Given the description of an element on the screen output the (x, y) to click on. 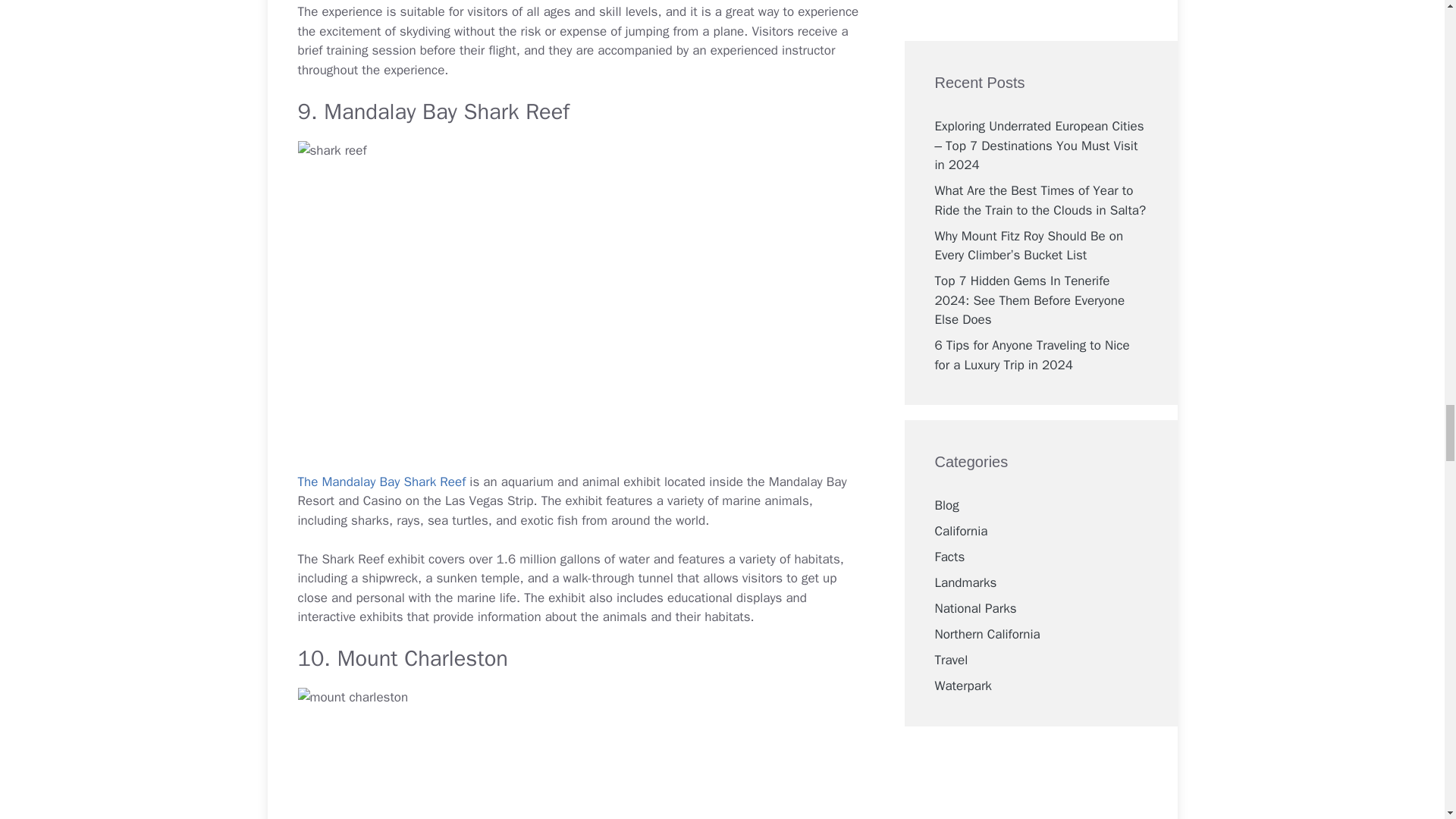
The Mandalay Bay Shark Reef (381, 481)
